Given the description of an element on the screen output the (x, y) to click on. 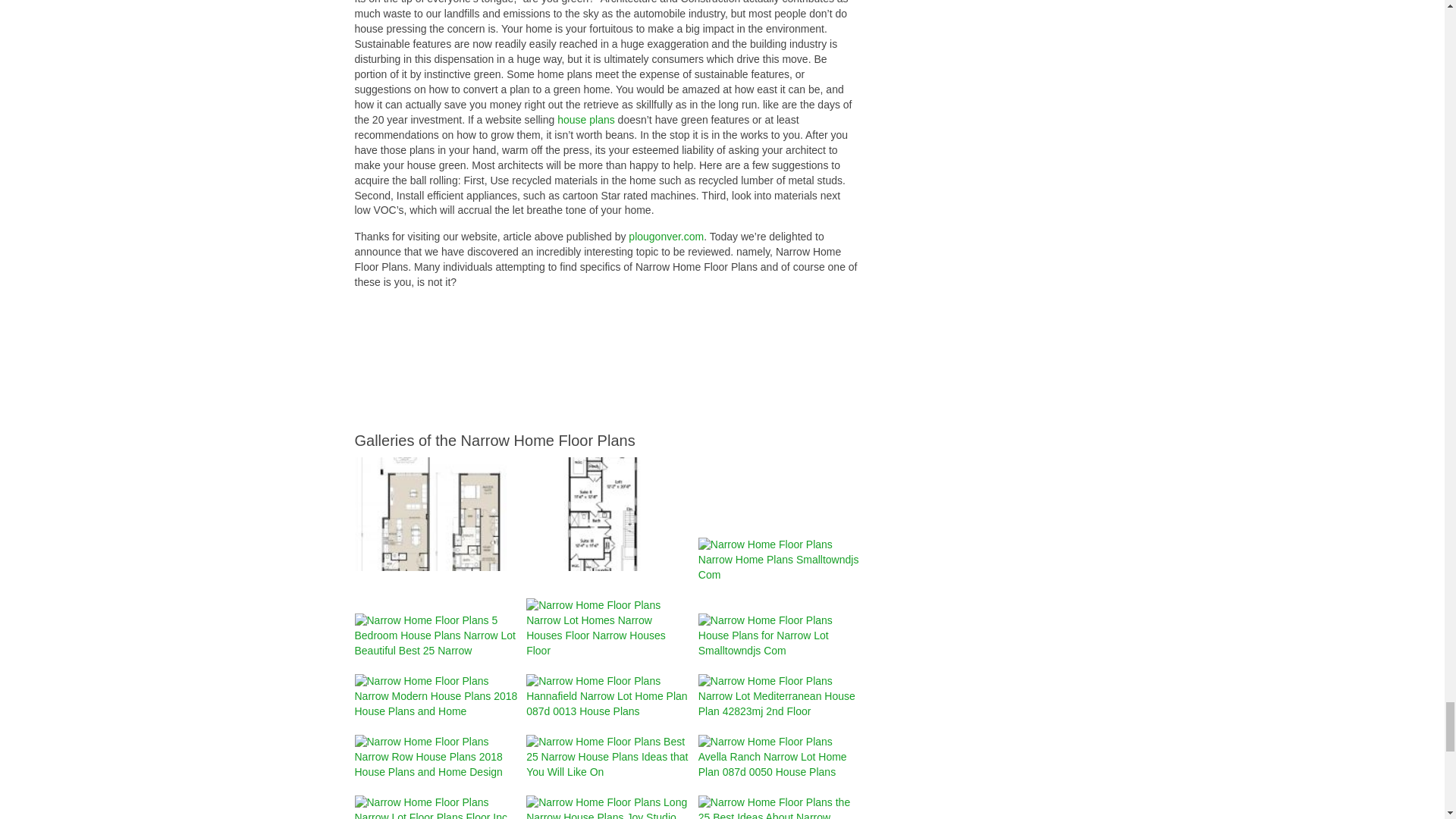
house plans (585, 119)
plougonver.com (665, 236)
Narrow Home Floor Plans Narrow Home Plans Smalltowndjs Com (780, 560)
